Given the description of an element on the screen output the (x, y) to click on. 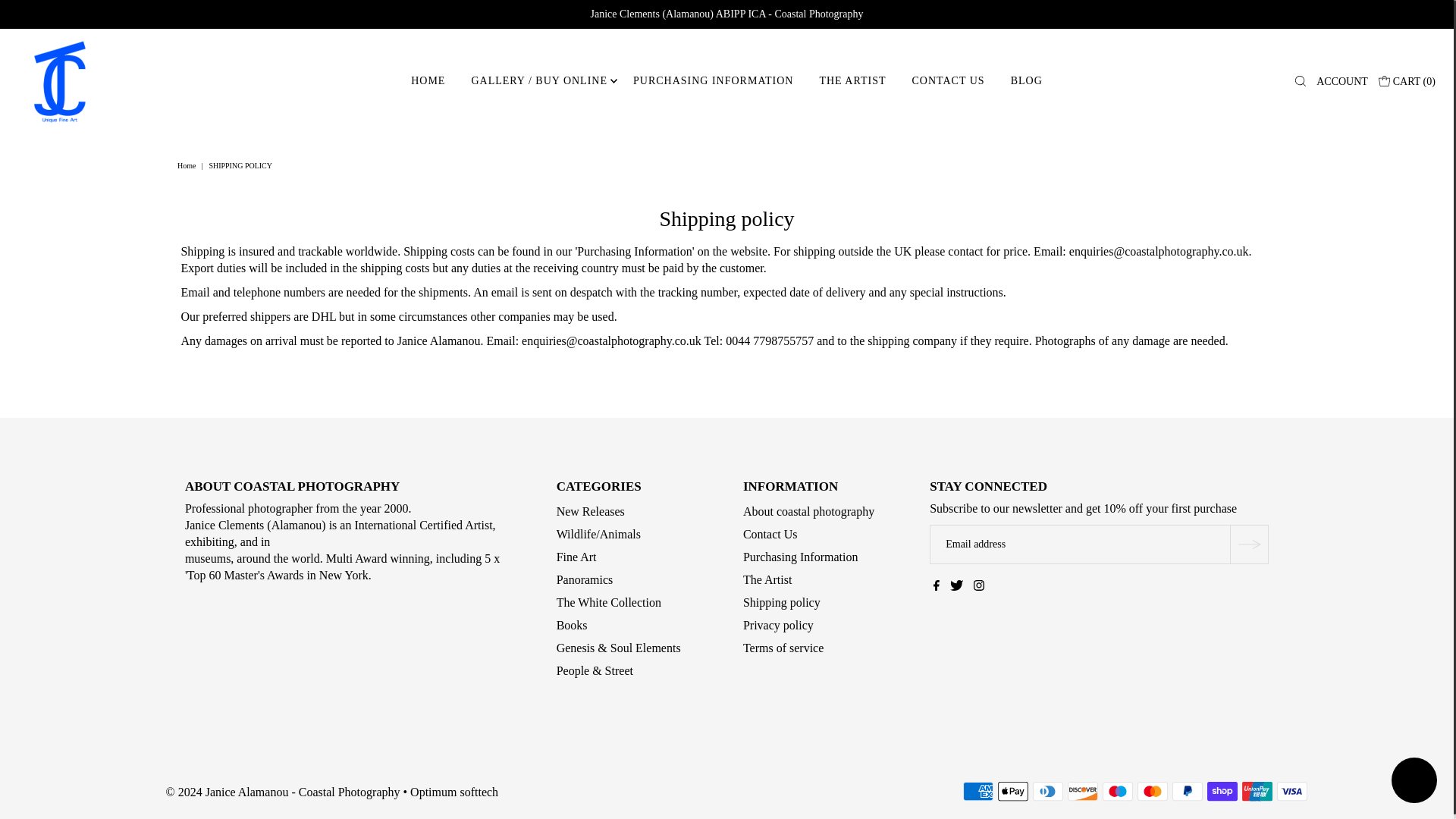
Apple Pay (1012, 791)
Shop Pay (1222, 791)
American Express (977, 791)
Shopify online store chat (1414, 781)
Home (188, 165)
HOME (427, 81)
Maestro (1117, 791)
PURCHASING INFORMATION (713, 81)
Mastercard (1152, 791)
Union Pay (1256, 791)
